Given the description of an element on the screen output the (x, y) to click on. 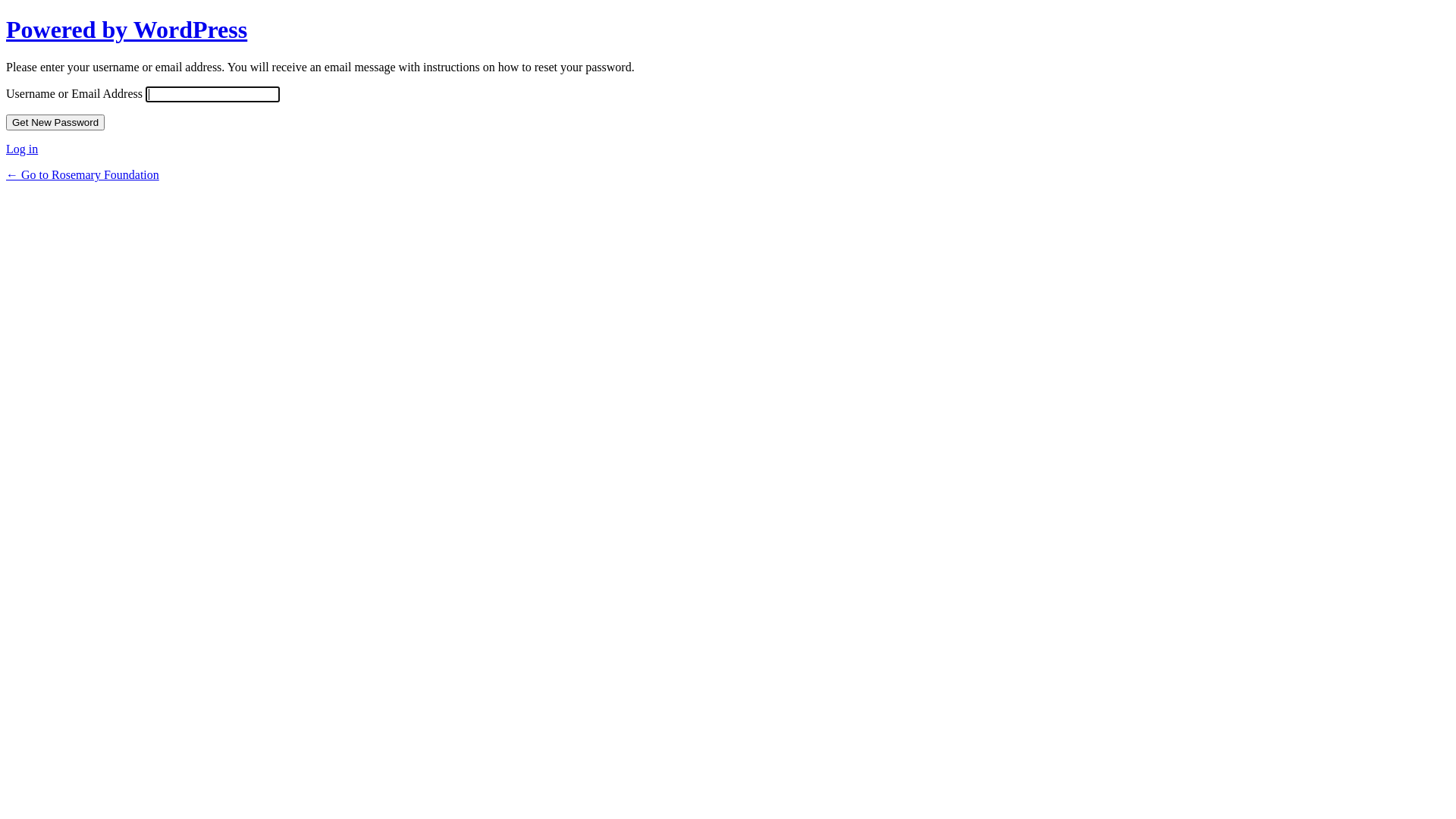
Get New Password Element type: text (55, 122)
Log in Element type: text (21, 148)
Powered by WordPress Element type: text (126, 29)
